Given the description of an element on the screen output the (x, y) to click on. 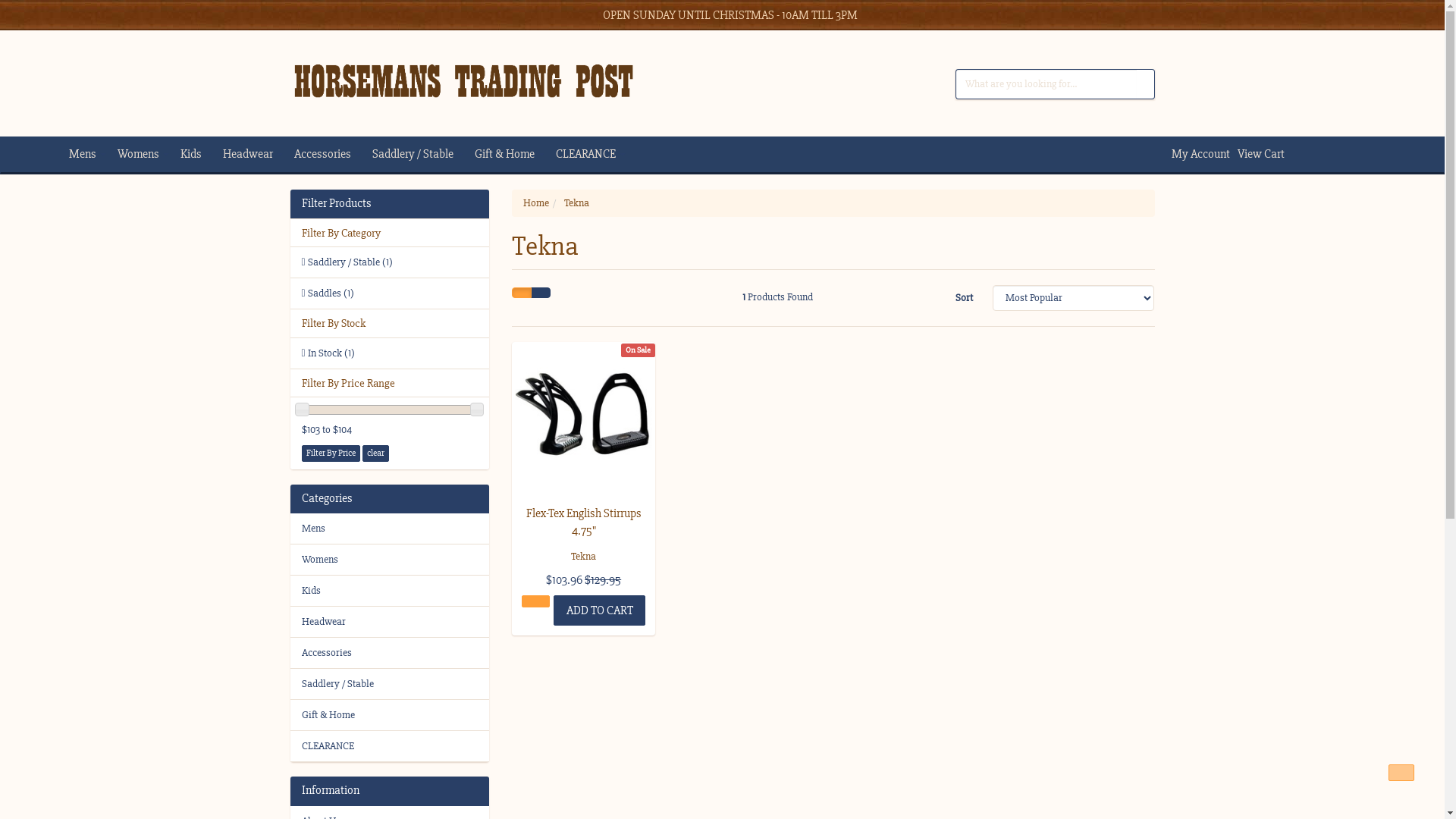
My Account Element type: text (1197, 153)
Home Element type: text (536, 202)
Mens Element type: text (389, 528)
Saddlery / Stable (1) Element type: text (389, 261)
ADD TO CART Element type: text (599, 610)
In Stock (1) Element type: text (389, 352)
clear Element type: text (375, 453)
Filter By Price Element type: text (330, 453)
CLEARANCE Element type: text (389, 746)
Flex-Tex English Stirrups 4.75" Element type: text (583, 521)
Filter Products Element type: text (389, 203)
View Cart Element type: text (1257, 153)
Gift & Home Element type: text (514, 154)
Kids Element type: text (201, 154)
Headwear Element type: text (389, 621)
Gift & Home Element type: text (389, 715)
Horsemans Trading Post Element type: hover (463, 75)
Mens Element type: text (93, 154)
Tekna Element type: text (576, 202)
Womens Element type: text (389, 559)
Headwear Element type: text (258, 154)
Saddlery / Stable Element type: text (423, 154)
Search Element type: text (1144, 84)
Accessories Element type: text (389, 652)
CLEARANCE Element type: text (596, 154)
Accessories Element type: text (333, 154)
Saddlery / Stable Element type: text (389, 683)
Saddles (1) Element type: text (389, 292)
Womens Element type: text (148, 154)
Tekna Element type: text (583, 555)
Kids Element type: text (389, 590)
